Given the description of an element on the screen output the (x, y) to click on. 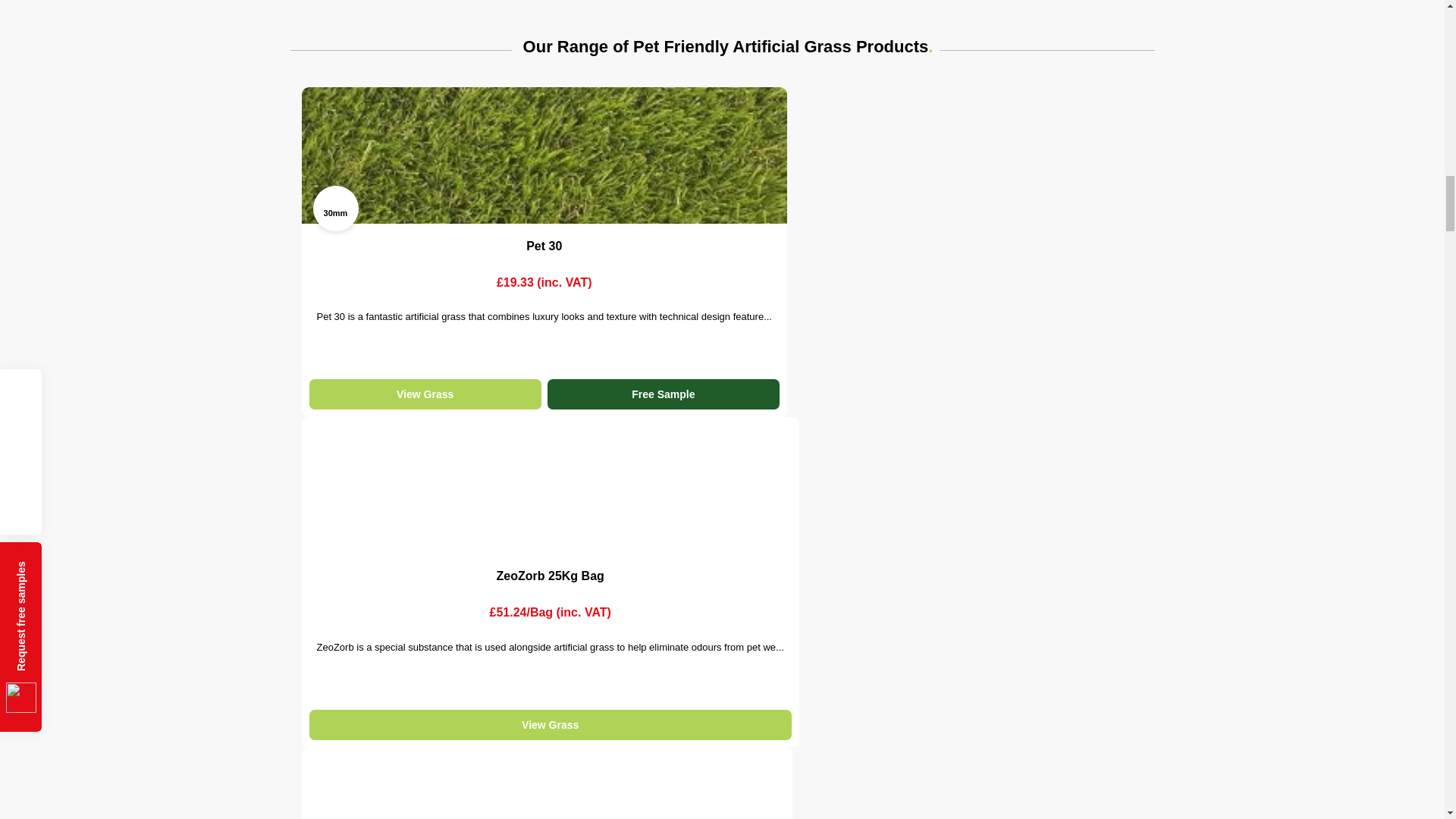
View Grass (424, 394)
Free Sample (662, 394)
